Given the description of an element on the screen output the (x, y) to click on. 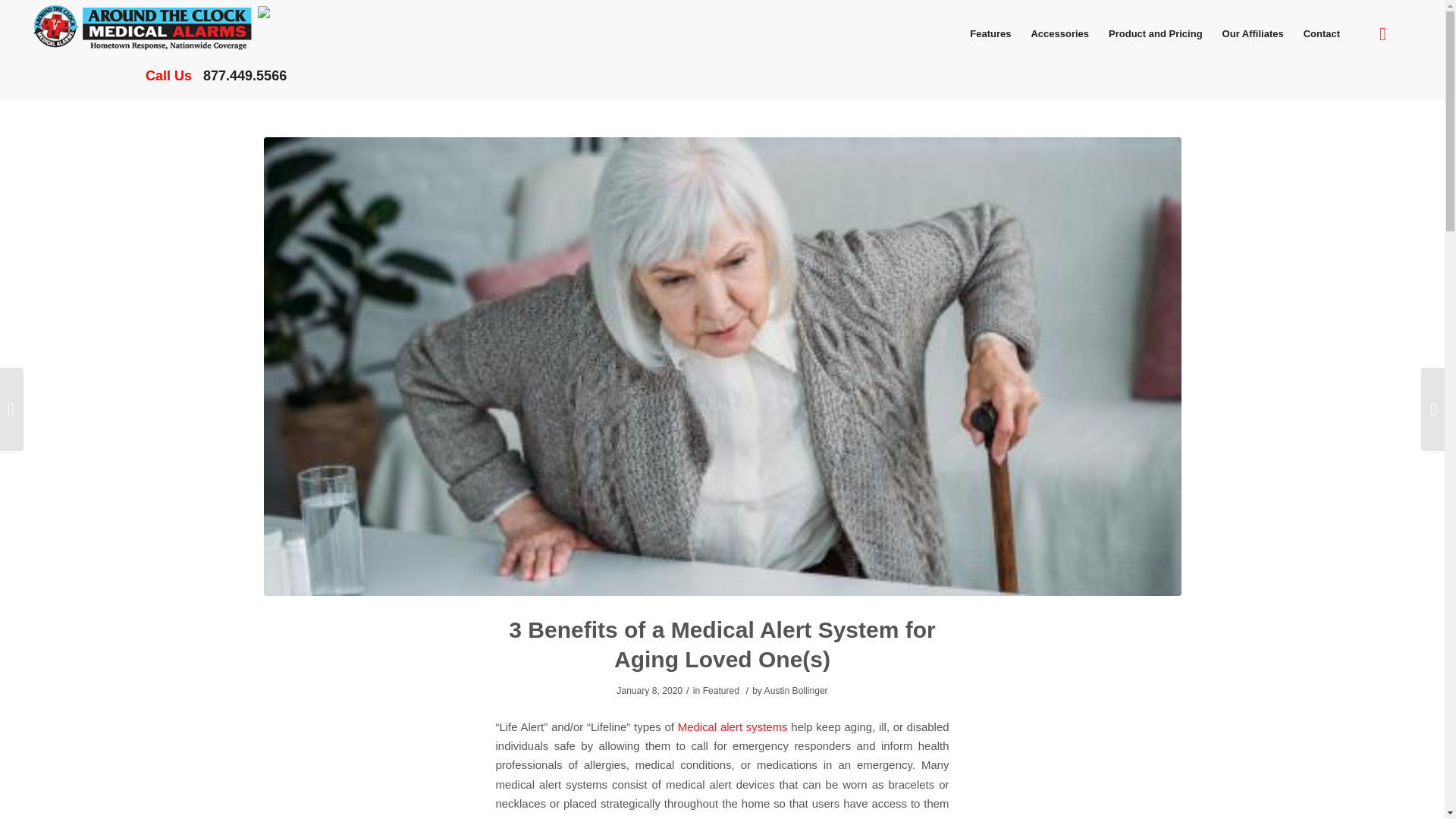
Medical alert systems (732, 726)
Our Affiliates (1253, 33)
877.449.5566 (244, 75)
Accessories (1059, 33)
Posts by Austin Bollinger (796, 690)
Austin Bollinger (796, 690)
Product and Pricing (1155, 33)
Featured (721, 690)
